Given the description of an element on the screen output the (x, y) to click on. 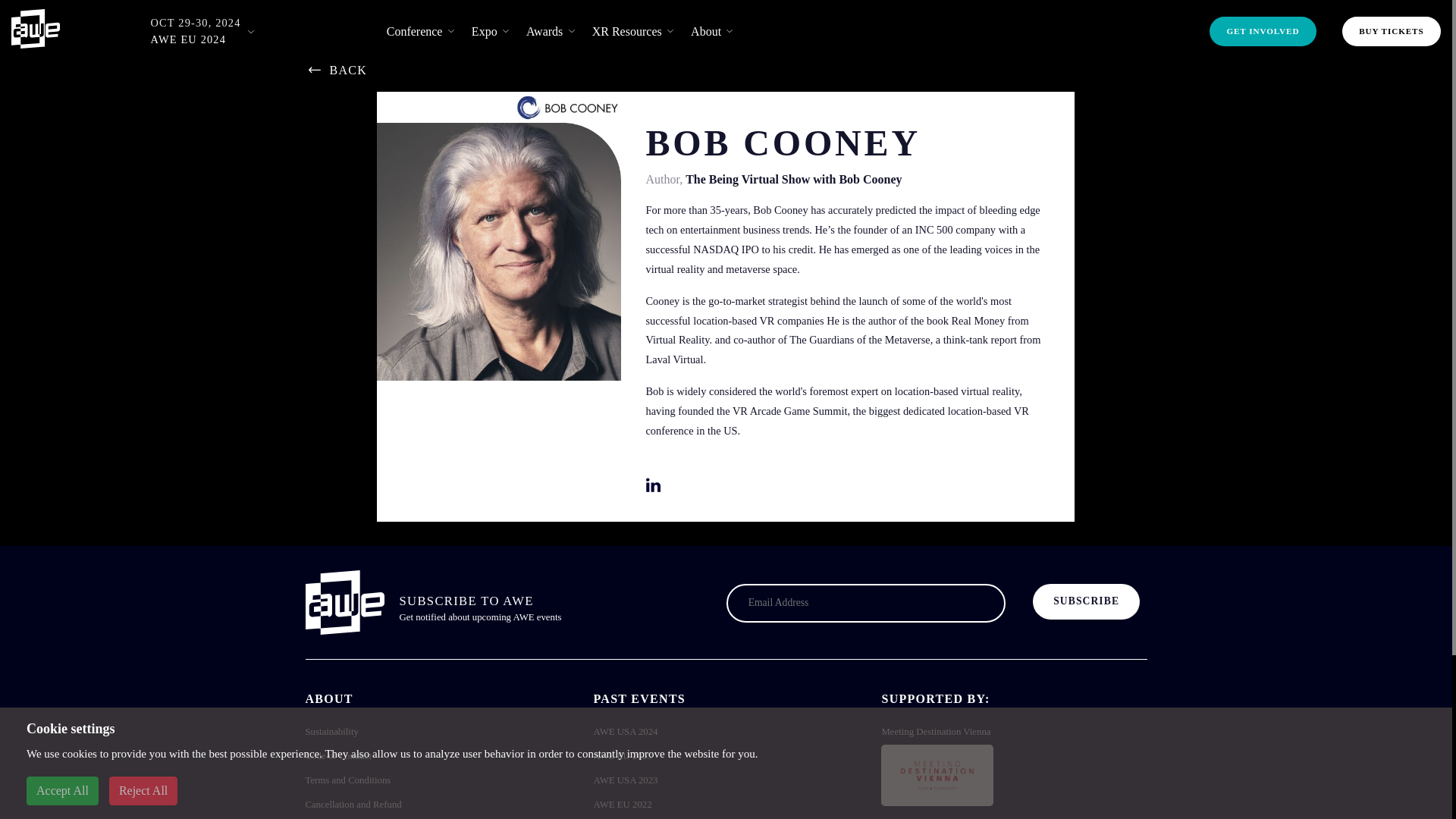
Subscribe (1086, 601)
GET INVOLVED (1262, 30)
BUY TICKETS (1391, 30)
